Given the description of an element on the screen output the (x, y) to click on. 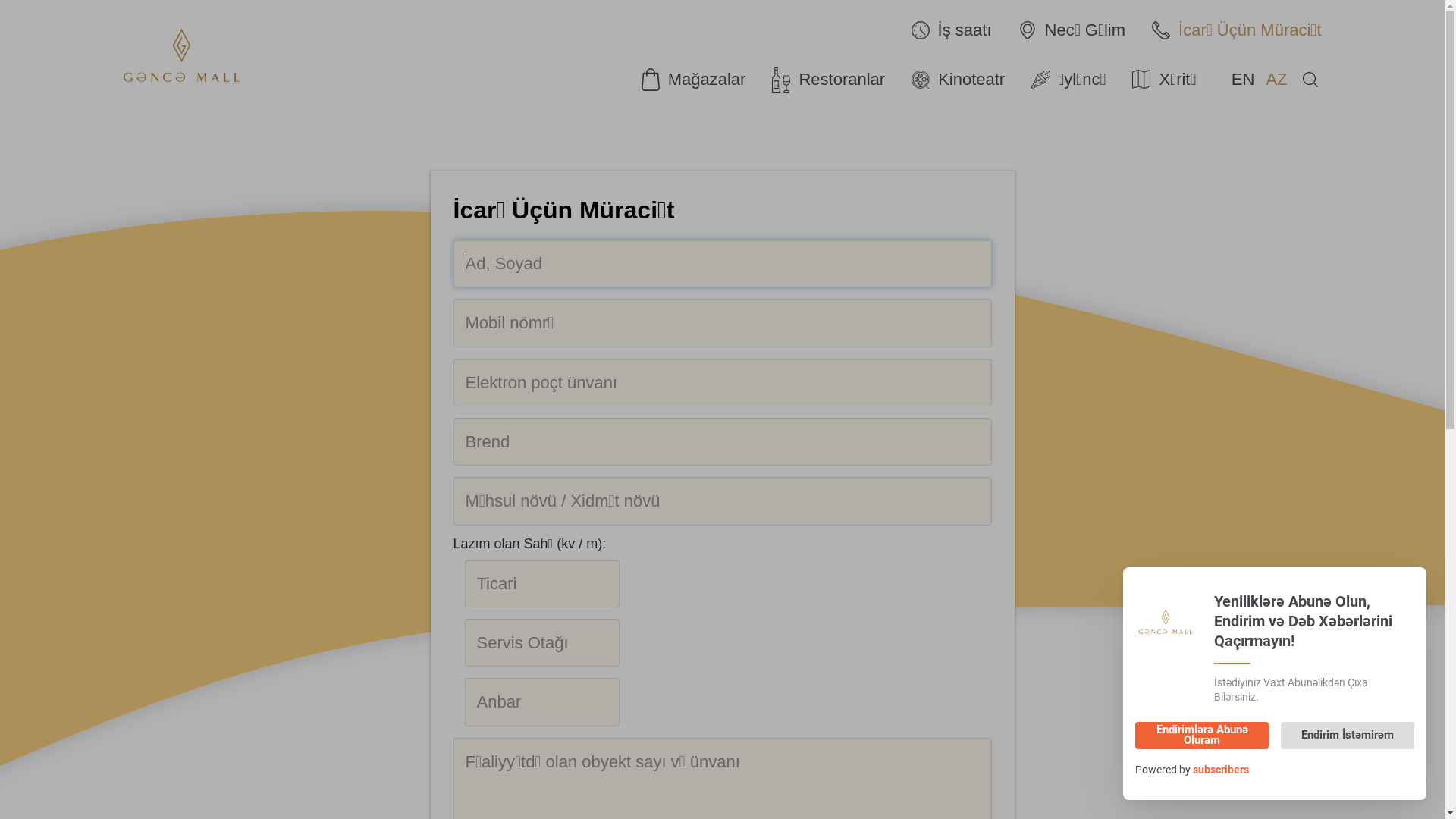
Restoranlar Element type: text (833, 79)
Kinoteatr Element type: text (963, 79)
EN Element type: text (1243, 78)
subscribers Element type: text (1220, 769)
AZ Element type: text (1275, 78)
